Given the description of an element on the screen output the (x, y) to click on. 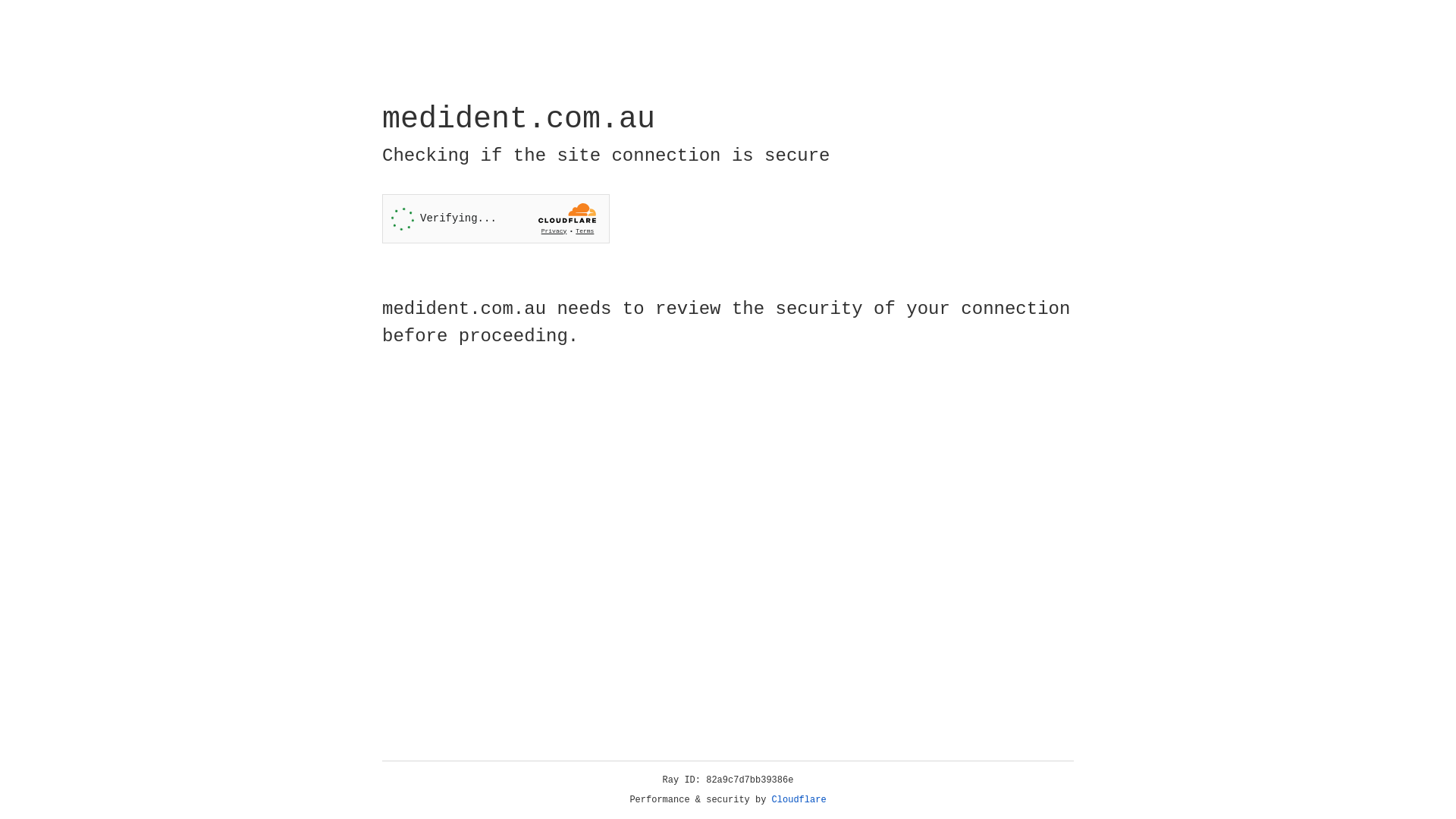
Widget containing a Cloudflare security challenge Element type: hover (495, 218)
Cloudflare Element type: text (798, 799)
